Given the description of an element on the screen output the (x, y) to click on. 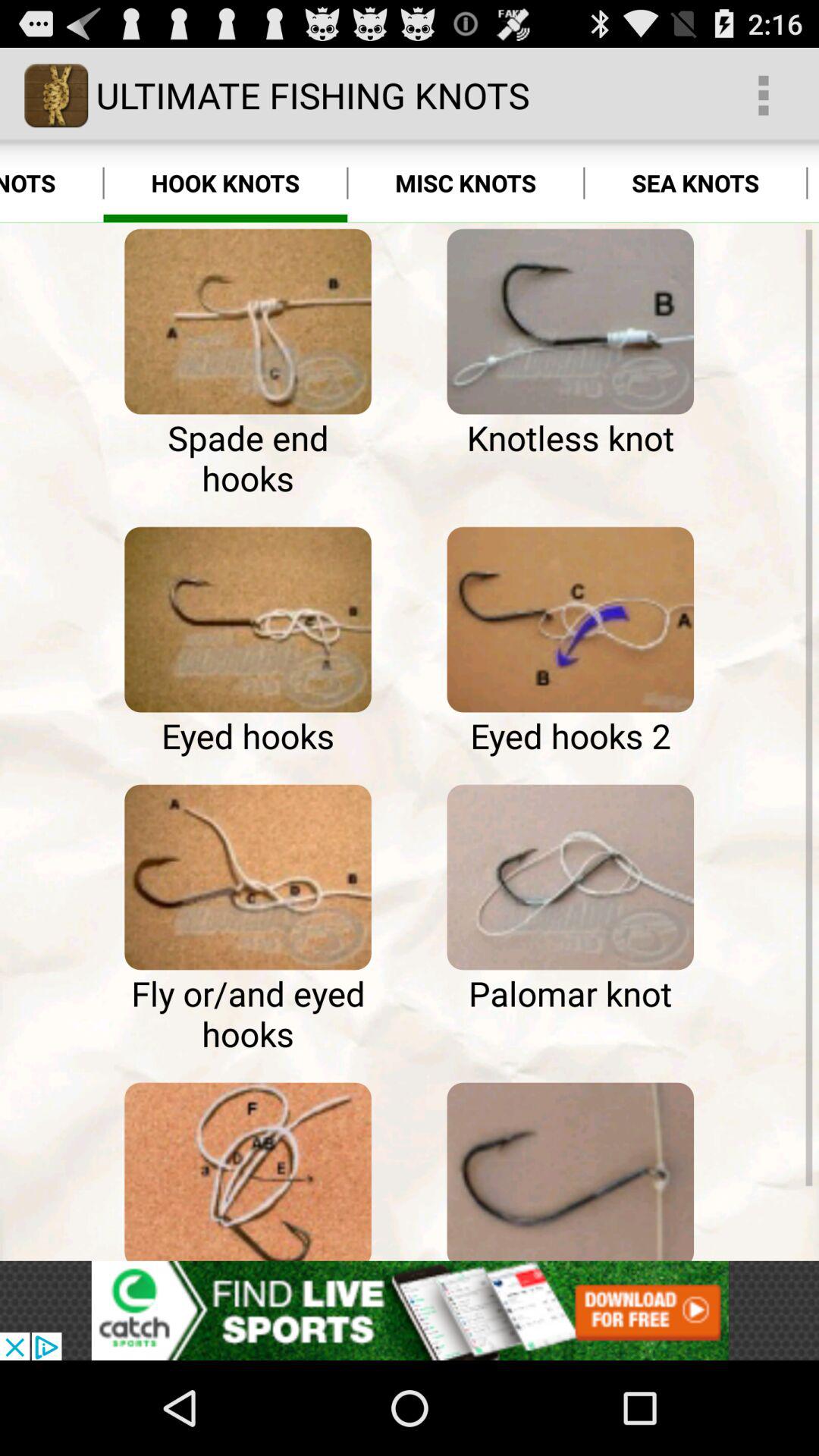
advatisment (409, 1310)
